Given the description of an element on the screen output the (x, y) to click on. 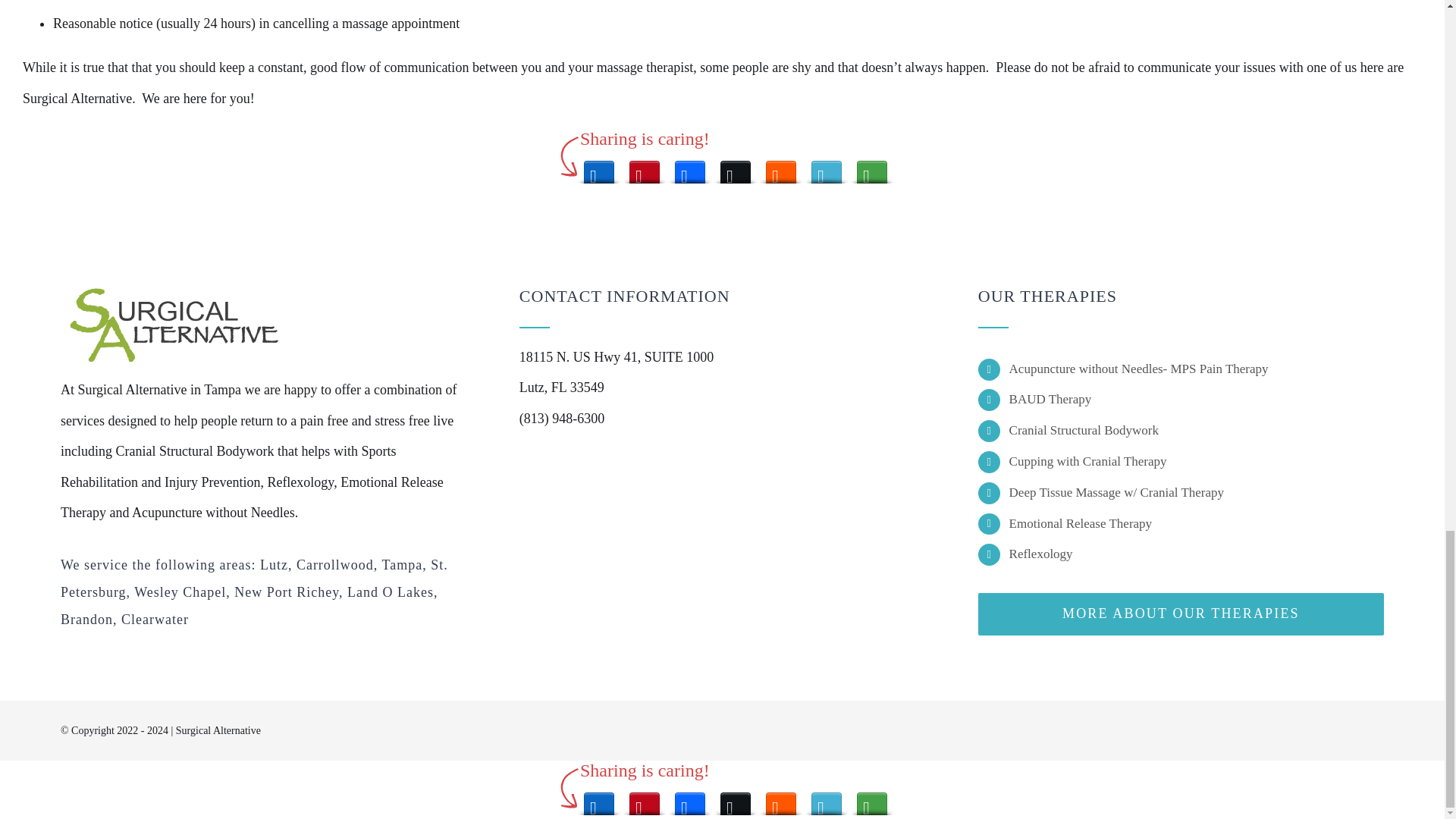
Yammer (825, 168)
surgical-alternative-dark (174, 326)
Pinterest (643, 168)
LinkedIn (598, 168)
More Options (871, 168)
Reddit (780, 168)
Facebook (689, 168)
